Given the description of an element on the screen output the (x, y) to click on. 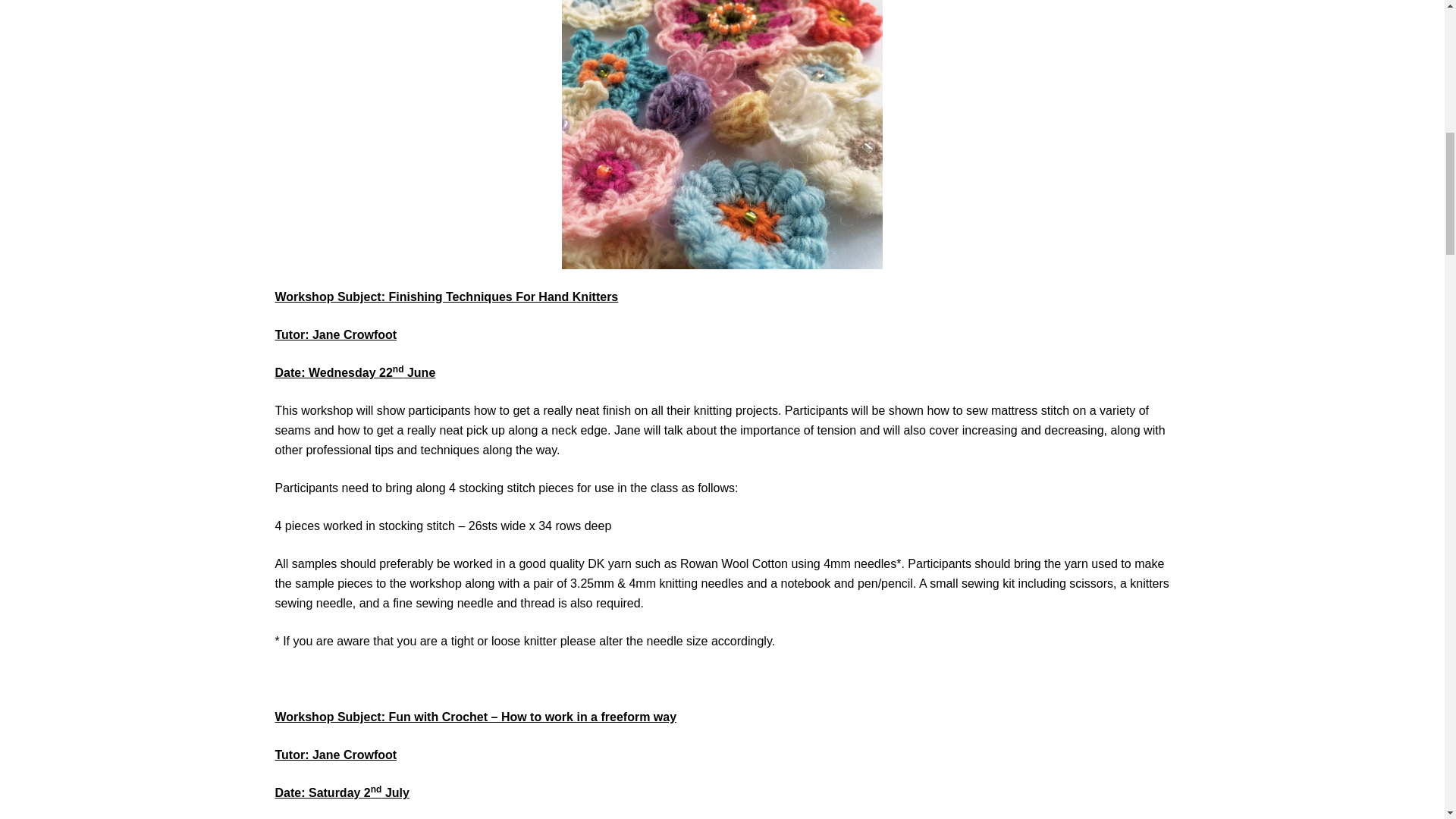
Page 1 (722, 297)
